Given the description of an element on the screen output the (x, y) to click on. 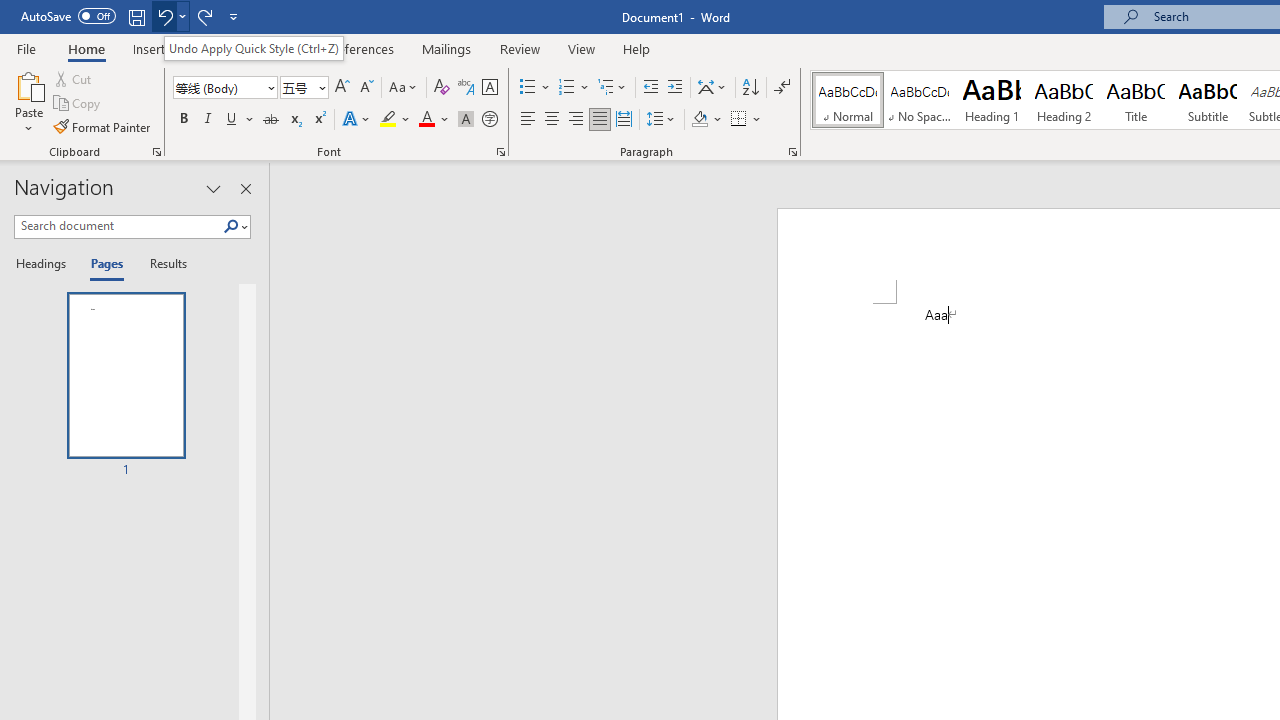
Undo Apply Quick Style (Ctrl+Z) (253, 48)
Font Color Red (426, 119)
